Given the description of an element on the screen output the (x, y) to click on. 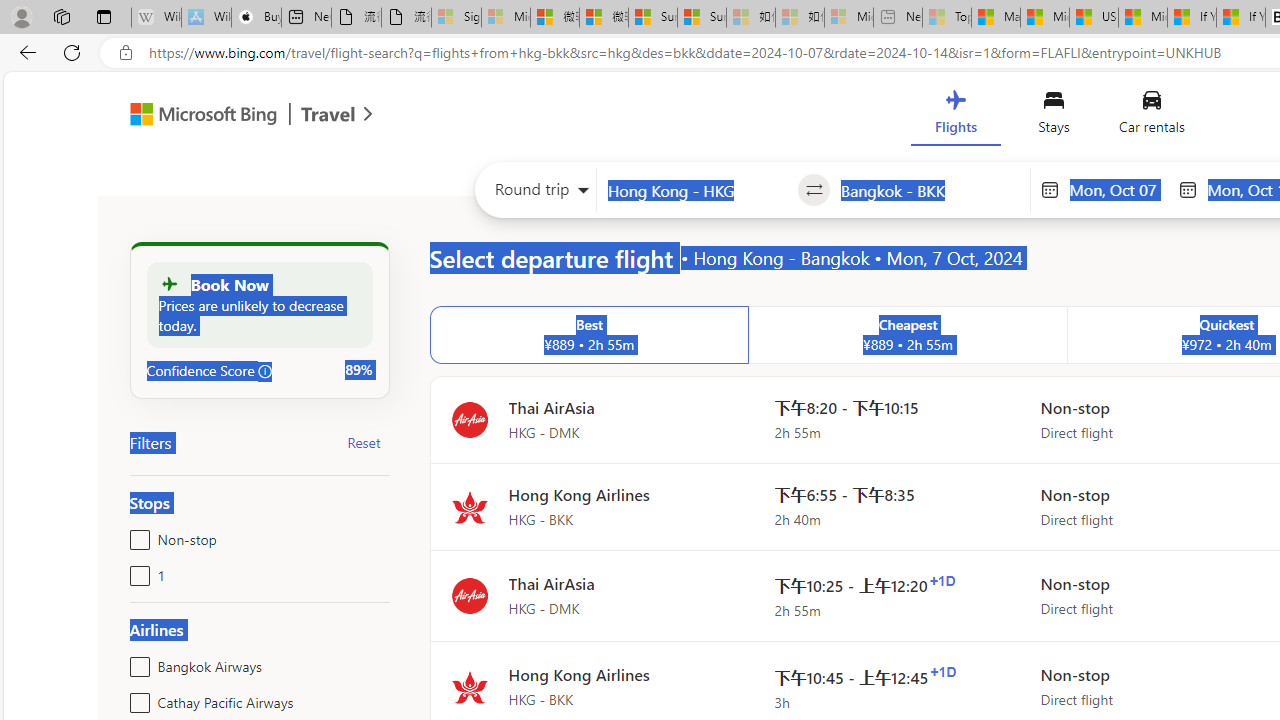
Flights (955, 116)
Class: msft-bing-logo msft-bing-logo-desktop (198, 114)
Start Date (1118, 189)
Select trip type (535, 193)
Bangkok Airways (136, 662)
Swap source and destination (813, 189)
